Given the description of an element on the screen output the (x, y) to click on. 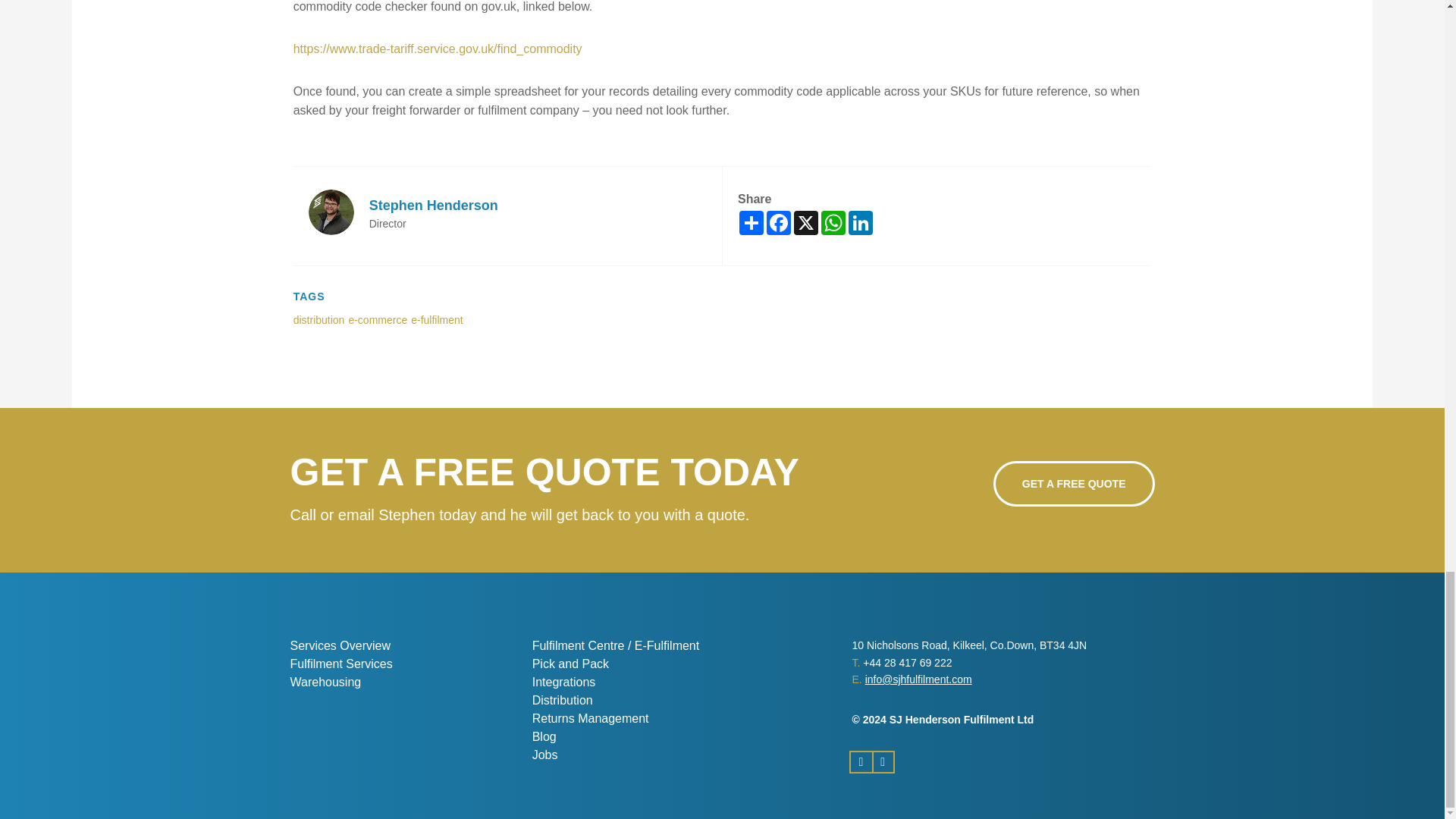
distribution Tag (319, 319)
e-fulfilment Tag (436, 319)
e-commerce Tag (377, 319)
